Given the description of an element on the screen output the (x, y) to click on. 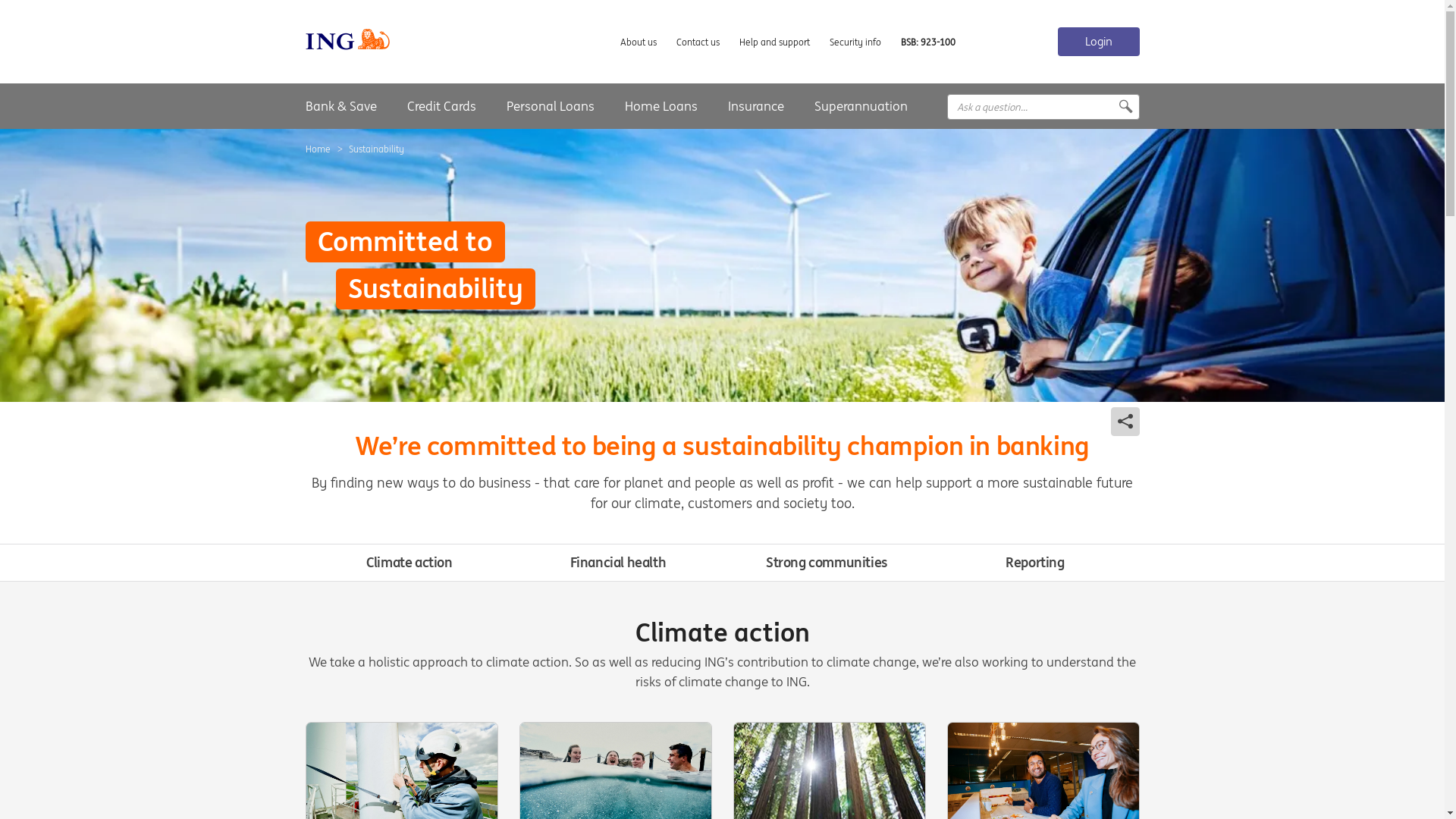
About us Element type: text (638, 41)
Bank & Save Element type: text (340, 105)
Share this Element type: hover (1124, 421)
Reporting Element type: text (1034, 562)
Help and support Element type: text (773, 41)
Insurance Element type: text (755, 105)
Financial health Element type: text (618, 562)
Climate action Element type: text (408, 562)
Share this Element type: hover (1113, 106)
Contact us Element type: text (697, 41)
Home Loans Element type: text (660, 105)
Strong communities Element type: text (826, 562)
Home Element type: text (316, 148)
Credit Cards Element type: text (440, 105)
Personal Loans Element type: text (550, 105)
ING Element type: hover (412, 106)
Security info Element type: text (855, 41)
Superannuation Element type: text (860, 105)
